Given the description of an element on the screen output the (x, y) to click on. 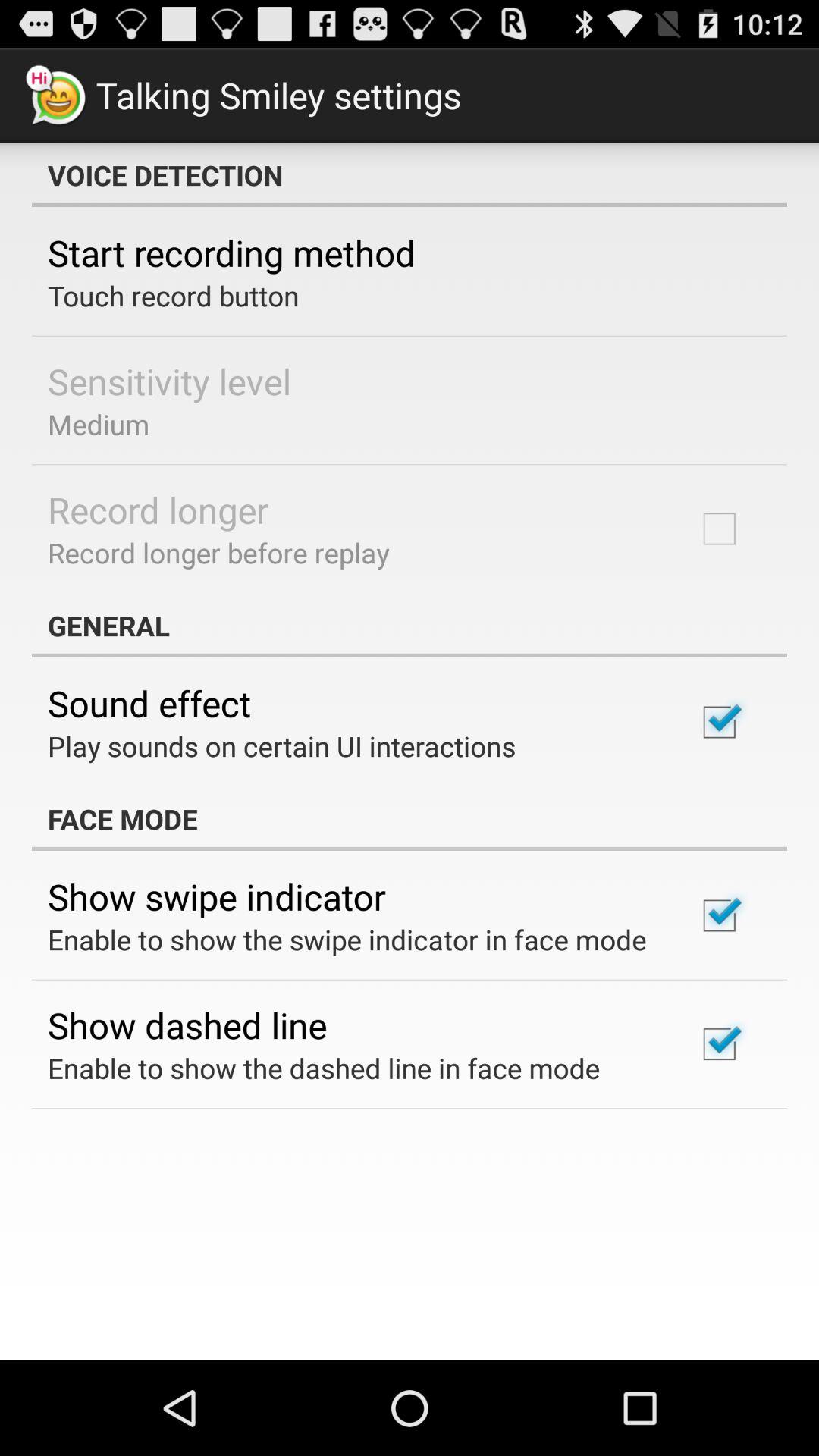
press voice detection (409, 175)
